Given the description of an element on the screen output the (x, y) to click on. 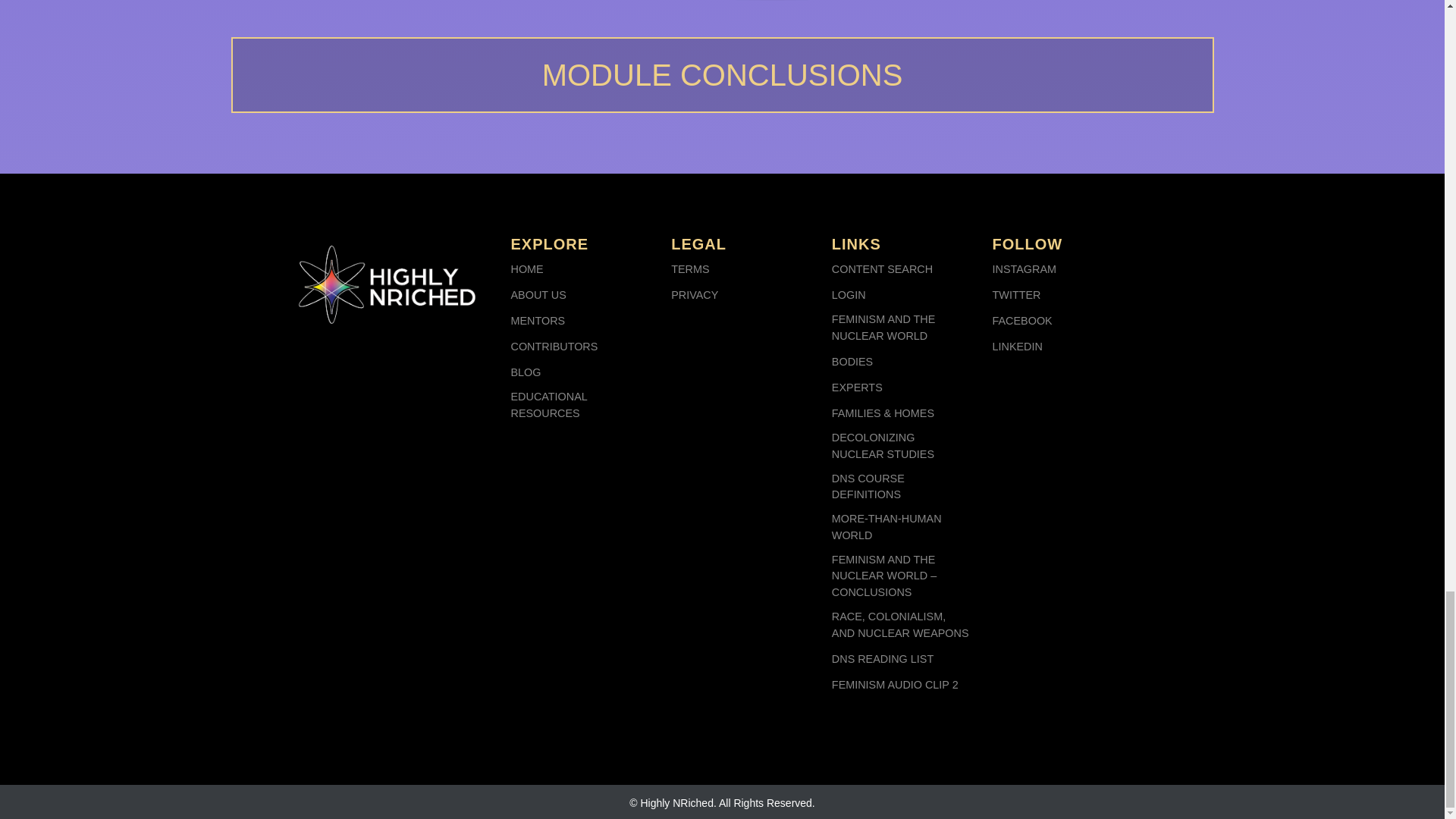
HOME (527, 269)
BLOG (526, 372)
BODIES (851, 362)
CONTRIBUTORS (554, 347)
CONTENT SEARCH (882, 269)
MODULE CONCLUSIONS (721, 74)
LOGIN (848, 295)
FEMINISM AND THE NUCLEAR WORLD (900, 327)
EDUCATIONAL RESOURCES (580, 405)
EXPERTS (856, 388)
